Given the description of an element on the screen output the (x, y) to click on. 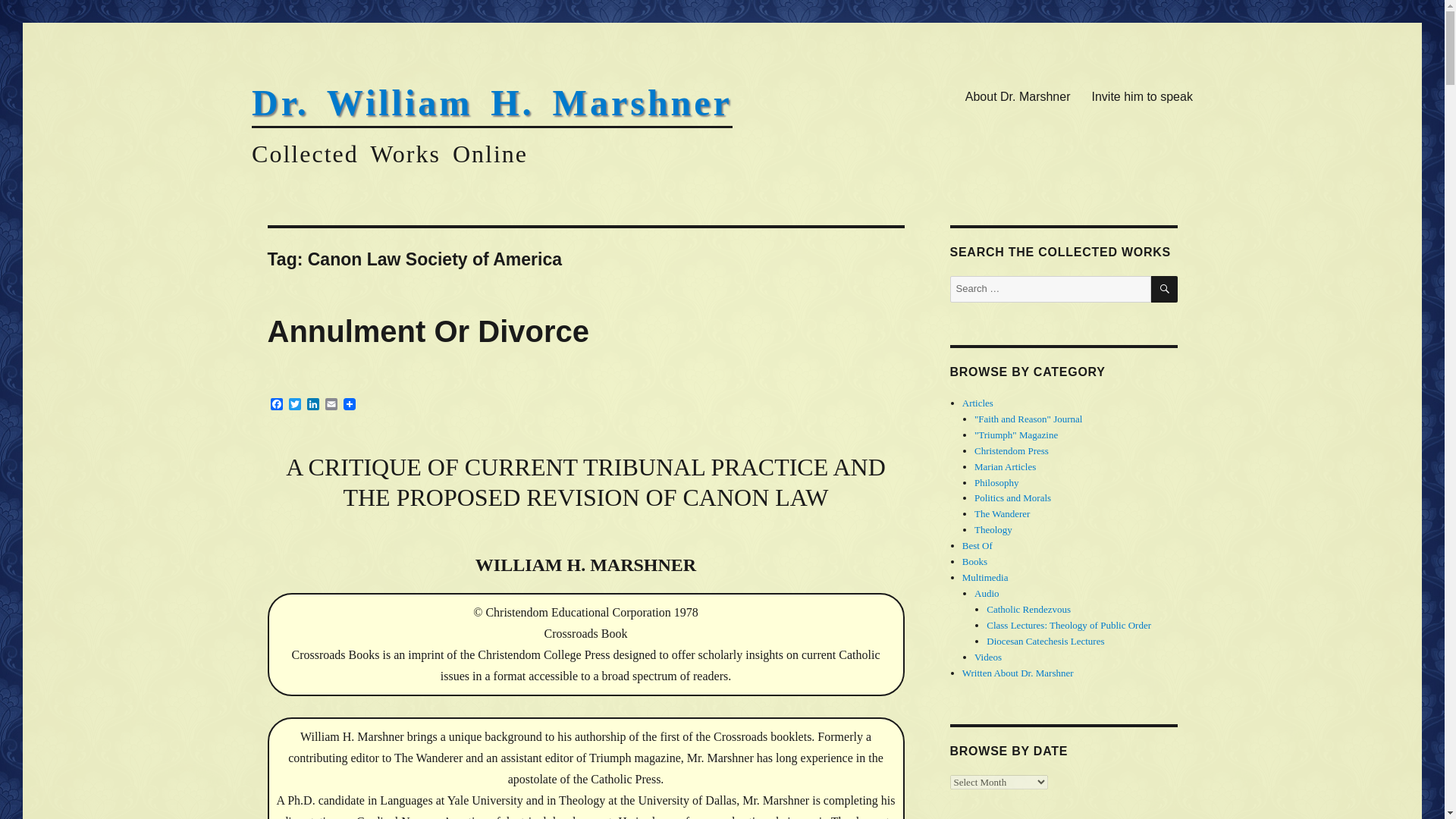
LinkedIn (311, 405)
Twitter (293, 405)
Email (330, 405)
Annulment Or Divorce (427, 331)
Facebook (275, 405)
About Dr. Marshner (1018, 96)
Email (330, 405)
Facebook (275, 405)
Dr. William H. Marshner (491, 102)
LinkedIn (311, 405)
